Given the description of an element on the screen output the (x, y) to click on. 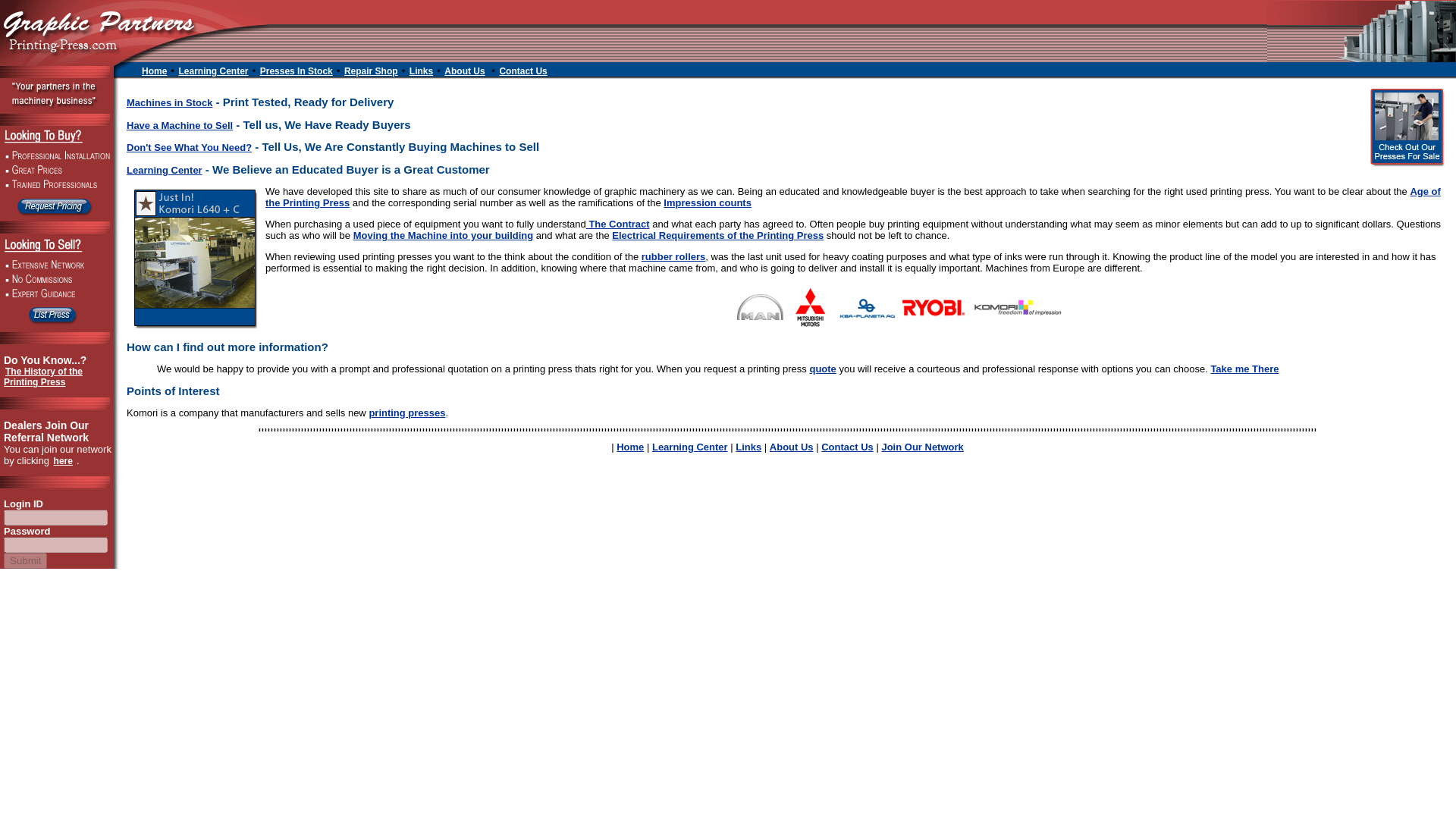
Learning Center (164, 170)
Take me There (1243, 368)
here (64, 461)
Join Our Network (921, 446)
The Contract (617, 224)
Moving the Machine into your building (443, 235)
About Us (464, 70)
Repair Shop (371, 70)
Have a Machine to Sell (179, 125)
Presses In Stock (297, 70)
Don't See What You Need? (188, 147)
Home (154, 70)
Contact Us (847, 446)
Home (629, 446)
Impression counts (707, 202)
